Given the description of an element on the screen output the (x, y) to click on. 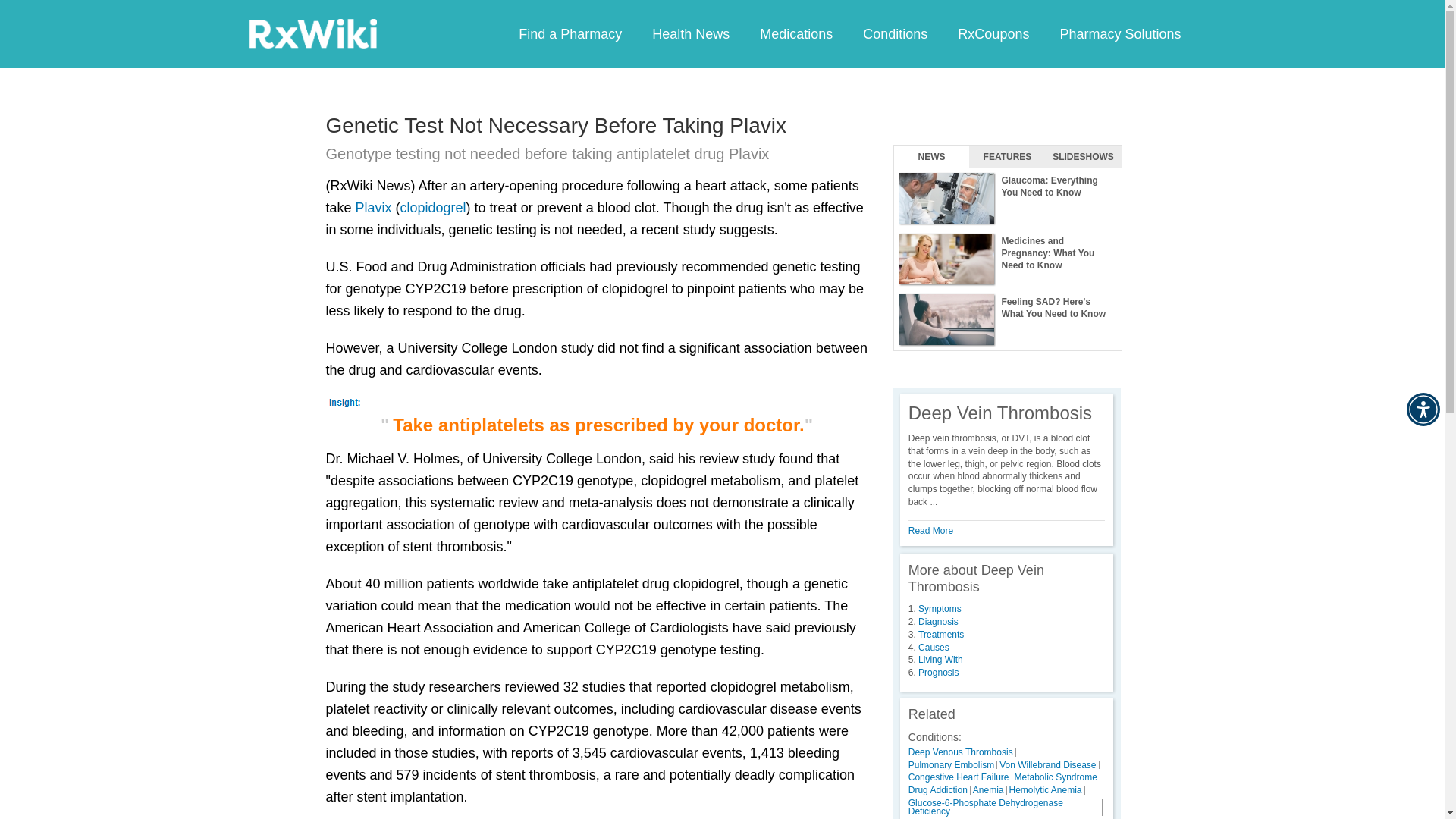
Health News (690, 33)
NEWS (931, 156)
Glaucoma: Everything You Need to Know (1007, 198)
RxWiki (312, 32)
Pharmacy Solutions (1119, 33)
Accessibility Menu (1422, 409)
Plavix (373, 207)
clopidogrel (432, 207)
Medicines and Pregnancy: What You Need to Know (1007, 259)
Medications (795, 33)
FEATURES (1007, 156)
Find a Pharmacy (570, 33)
Conditions (894, 33)
Feeling SAD? Here's What You Need to Know (1007, 319)
RxCoupons (992, 33)
